Given the description of an element on the screen output the (x, y) to click on. 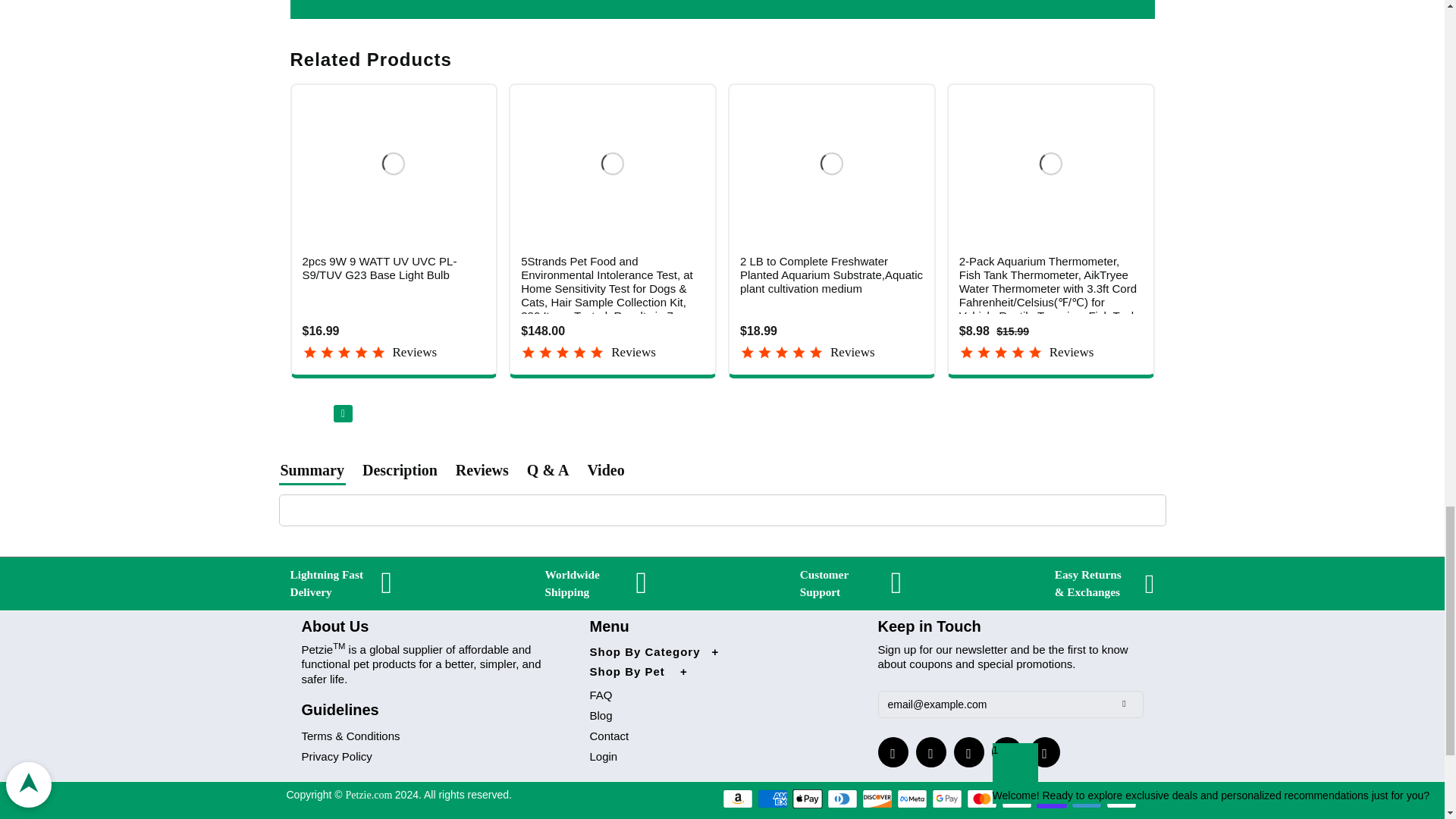
Shop Pay (1051, 798)
PayPal (1016, 798)
Discover (876, 798)
Diners Club (842, 798)
Meta Pay (911, 798)
American Express (772, 798)
Amazon (737, 798)
Apple Pay (807, 798)
Venmo (1086, 798)
Google Pay (946, 798)
Mastercard (981, 798)
Visa (1121, 798)
